Given the description of an element on the screen output the (x, y) to click on. 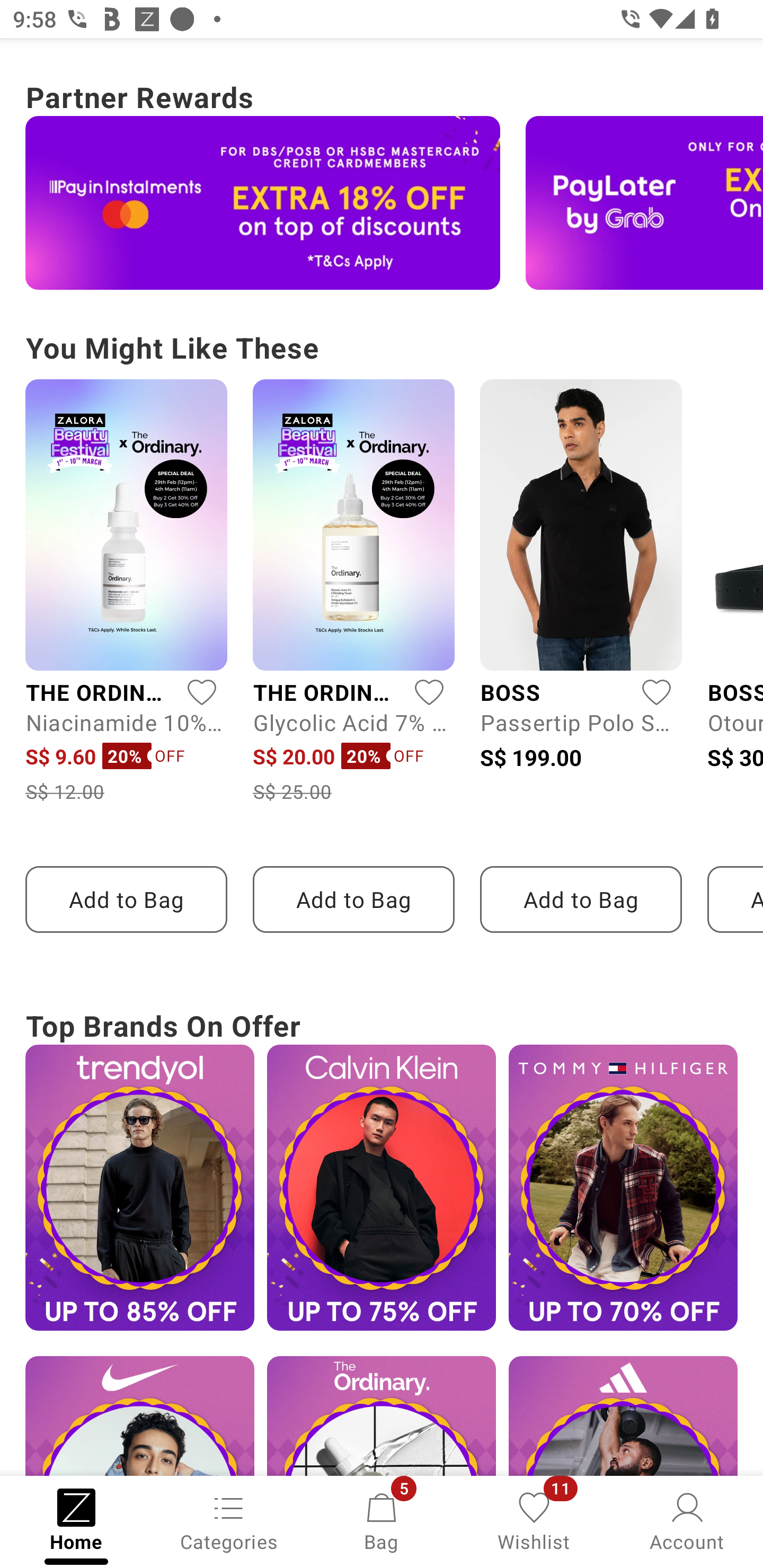
Partner Rewards Campaign banner Campaign banner (381, 181)
Campaign banner (262, 203)
Campaign banner (644, 203)
Add to Bag (126, 898)
Add to Bag (353, 898)
Add to Bag (580, 898)
Campaign banner (139, 1187)
Campaign banner (381, 1187)
Campaign banner (622, 1187)
Categories (228, 1519)
Bag, 5 new notifications Bag (381, 1519)
Wishlist, 11 new notifications Wishlist (533, 1519)
Account (686, 1519)
